Given the description of an element on the screen output the (x, y) to click on. 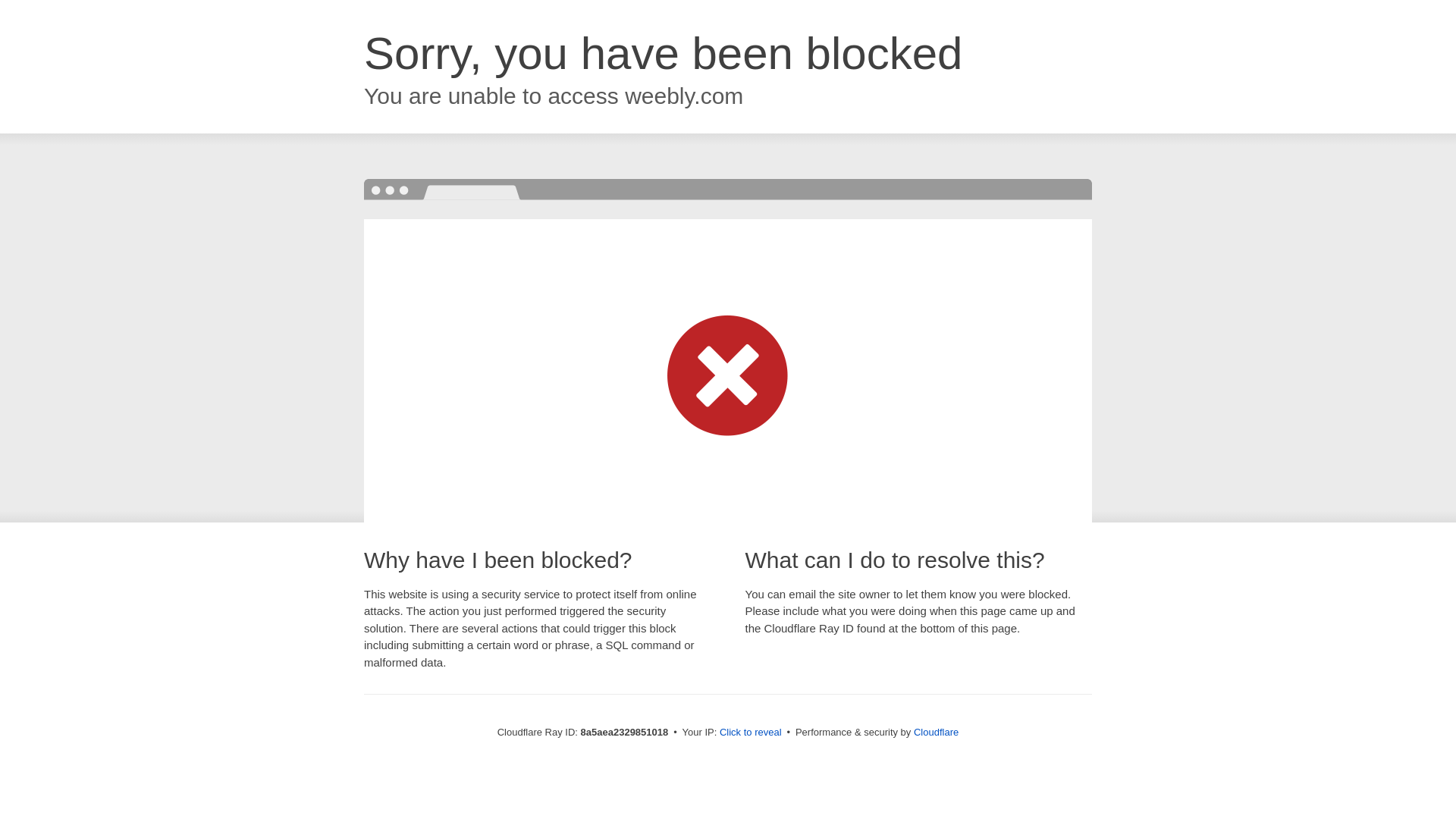
Click to reveal (750, 732)
Cloudflare (936, 731)
